Given the description of an element on the screen output the (x, y) to click on. 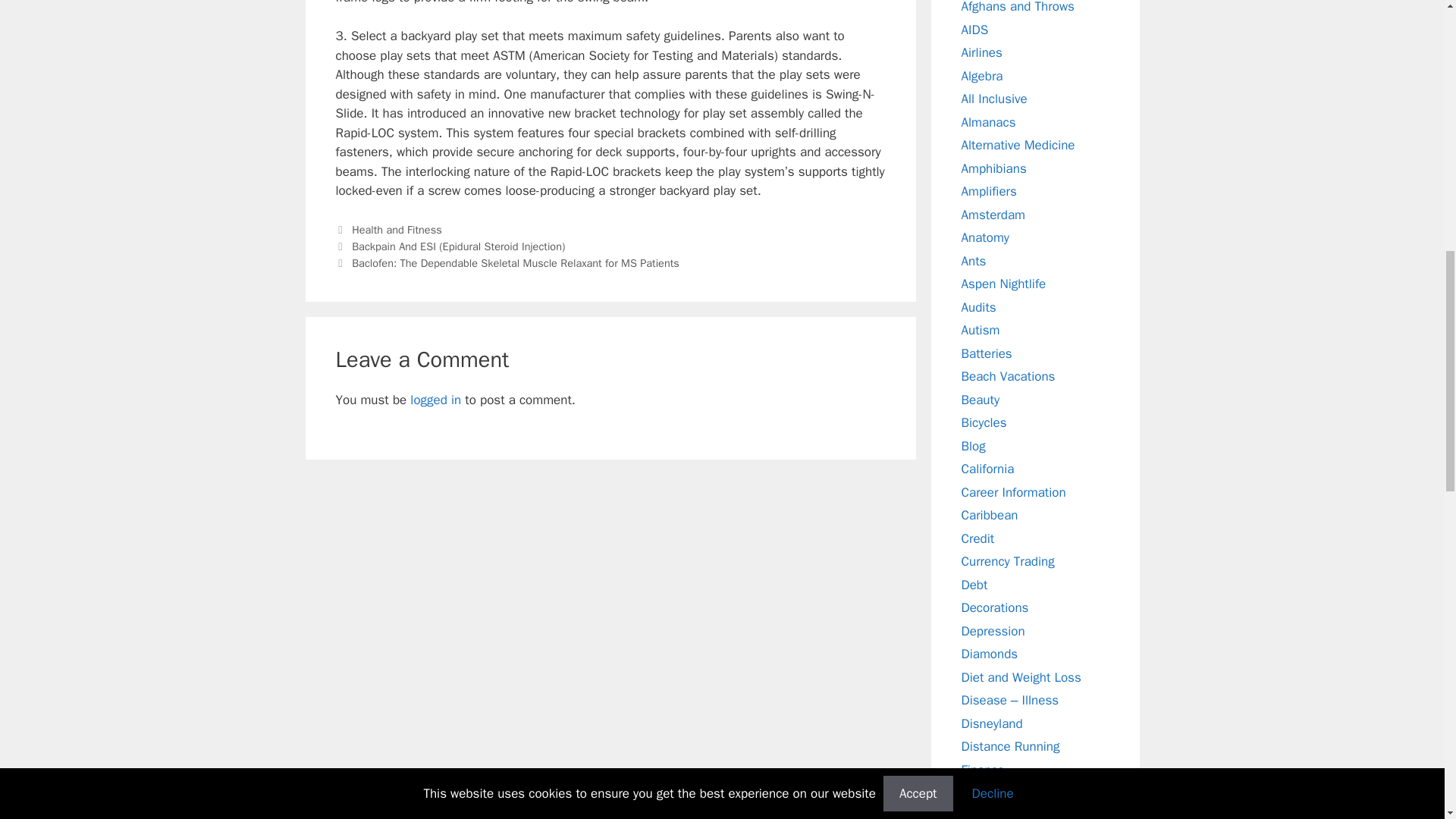
Aspen Nightlife (1003, 283)
Anatomy (985, 237)
Health and Fitness (397, 229)
Autism (980, 330)
Afghans and Throws (1017, 7)
Amphibians (993, 168)
Algebra (981, 75)
AIDS (974, 28)
Alternative Medicine (1017, 145)
Batteries (985, 353)
All Inclusive (993, 98)
Audits (977, 306)
Amsterdam (993, 213)
Almanacs (988, 121)
